Given the description of an element on the screen output the (x, y) to click on. 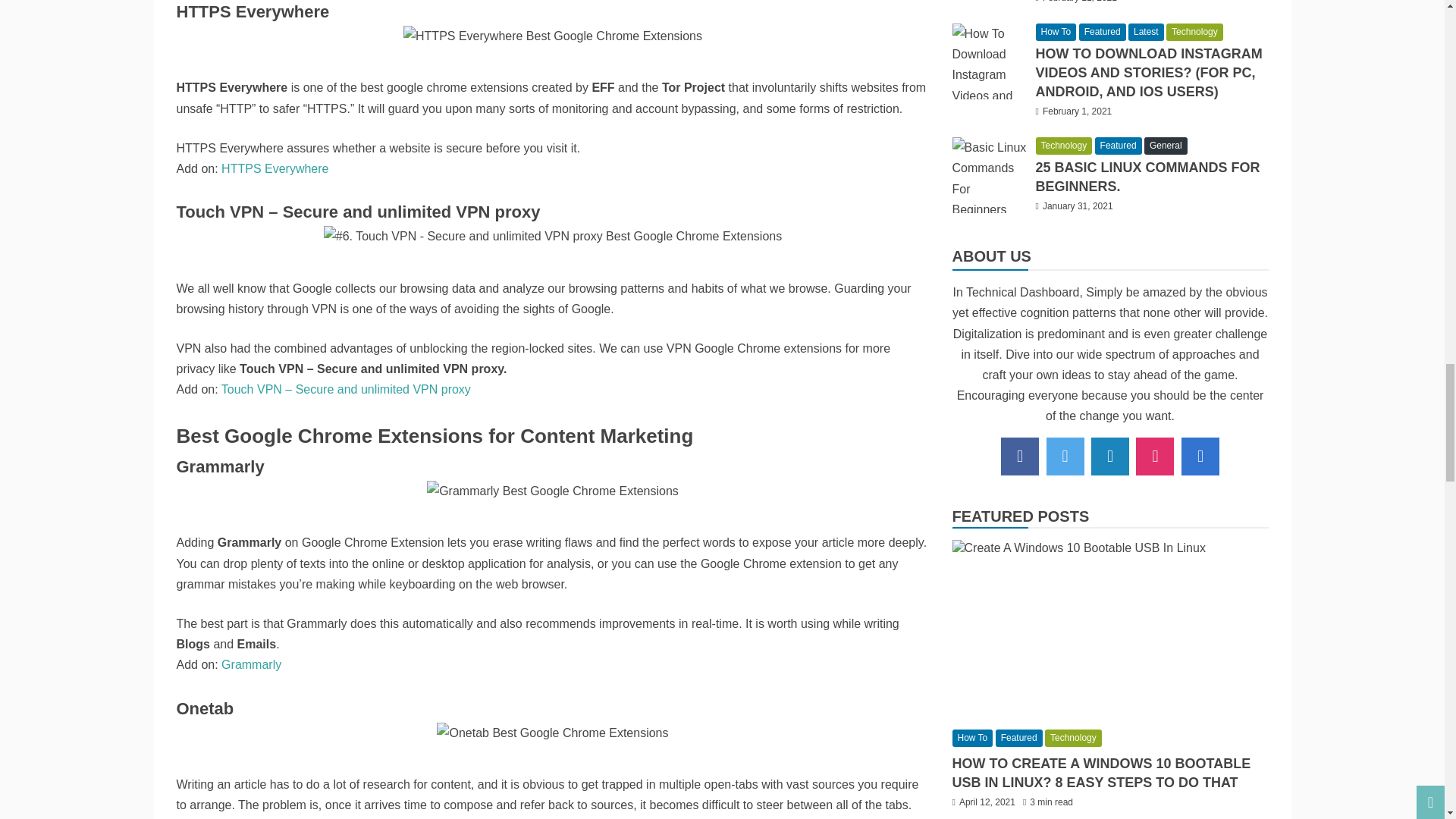
Best Google Chrome Extensions You Should Be Using In 2020 18 (552, 732)
Best Google Chrome Extensions You Should Be Using In 2020 15 (552, 35)
Best Google Chrome Extensions You Should Be Using In 2020 16 (552, 236)
Best Google Chrome Extensions You Should Be Using In 2020 17 (552, 490)
